Given the description of an element on the screen output the (x, y) to click on. 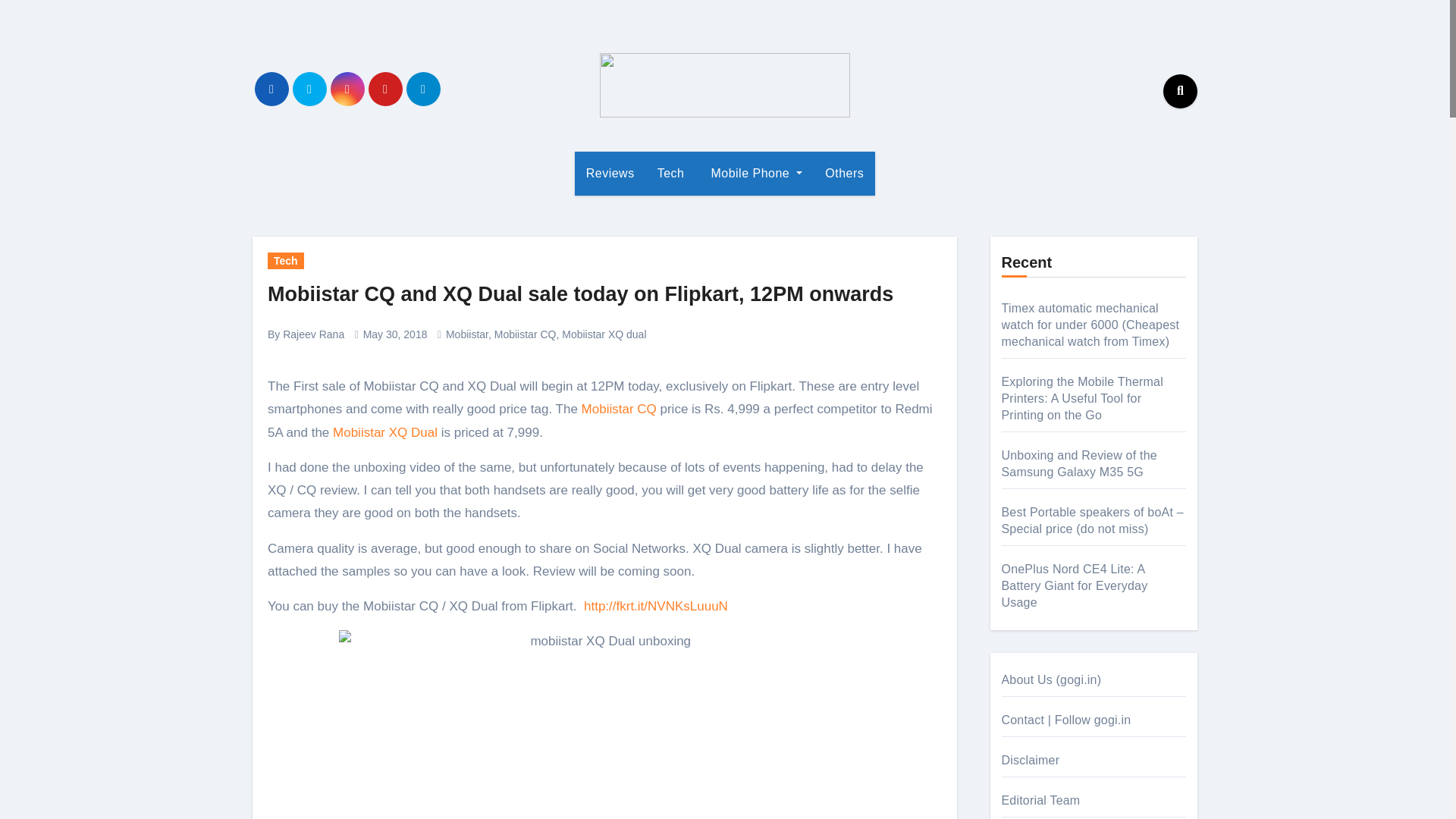
Others (844, 173)
Mobile Phone Section (754, 173)
Tech (670, 173)
By Rajeev Rana (305, 334)
Reviews (610, 173)
Others (844, 173)
 Mobile Phone (754, 173)
Reviews (610, 173)
Tech (670, 173)
Tech (285, 260)
